Given the description of an element on the screen output the (x, y) to click on. 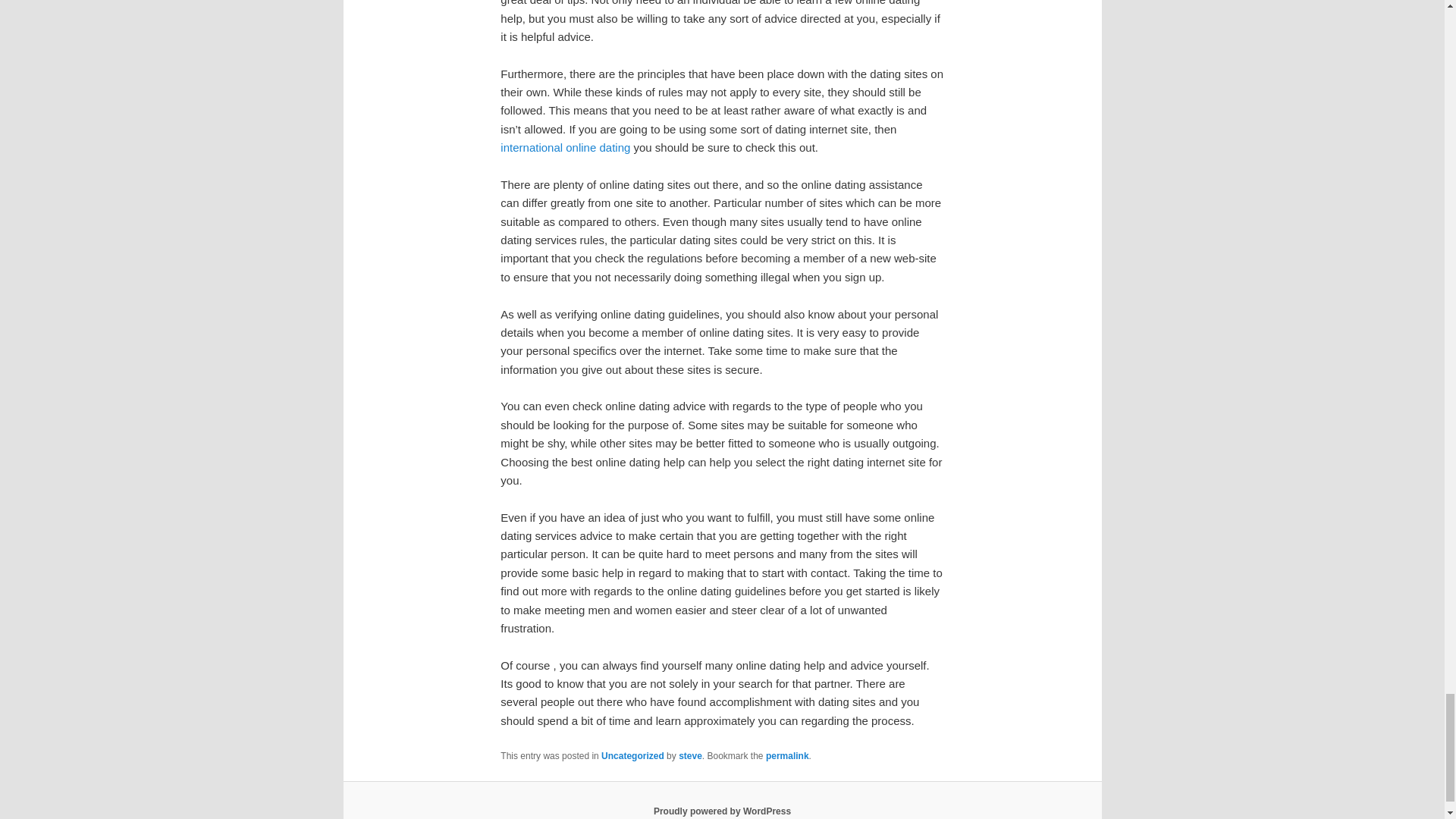
international online dating (565, 146)
Semantic Personal Publishing Platform (721, 810)
Uncategorized (632, 756)
permalink (787, 756)
Proudly powered by WordPress (721, 810)
steve (689, 756)
